Given the description of an element on the screen output the (x, y) to click on. 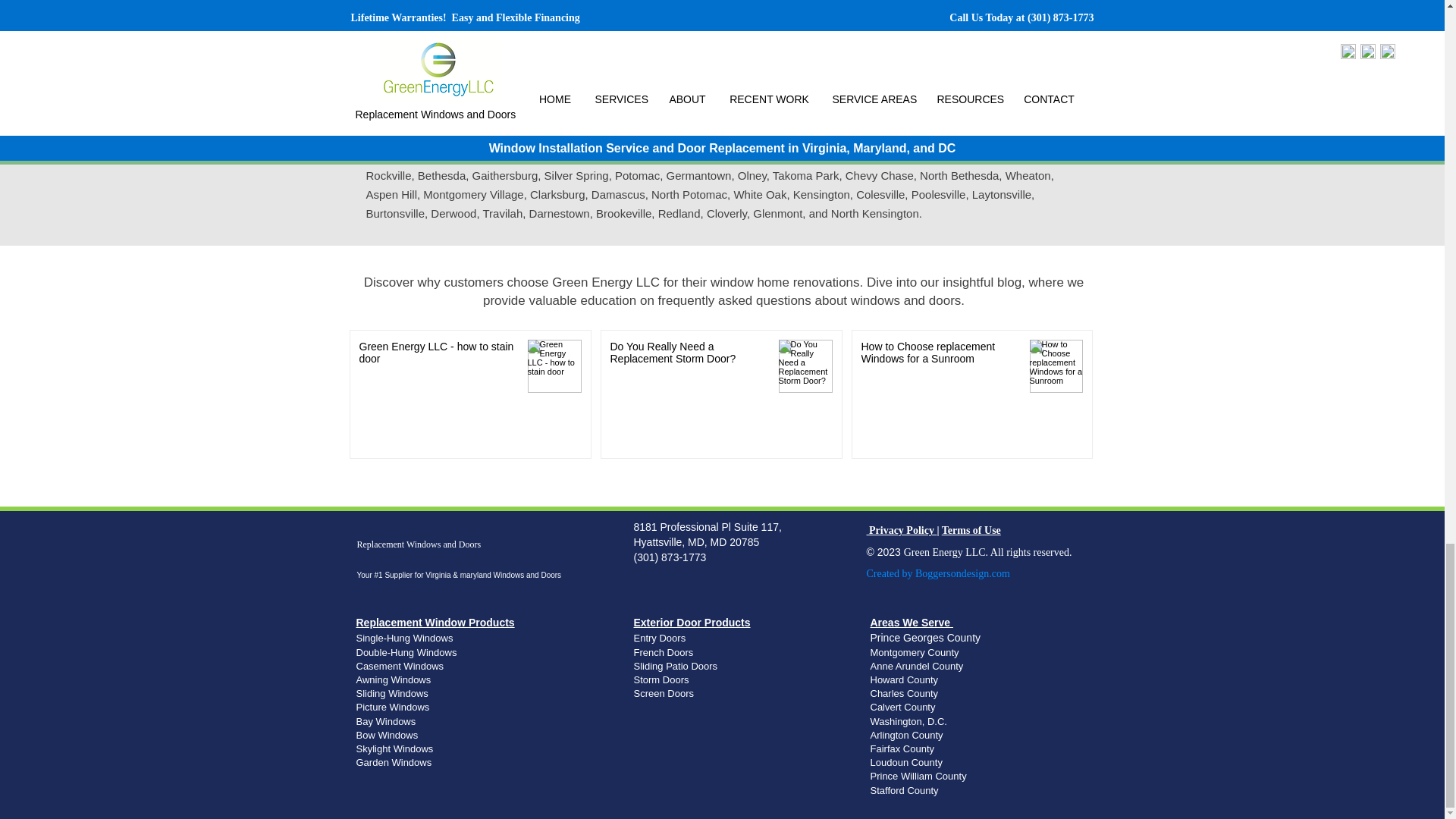
Do You Really Need a Replacement Storm Door? (689, 355)
Contact us (823, 43)
Green Energy LLC - how to stain door (438, 355)
